Given the description of an element on the screen output the (x, y) to click on. 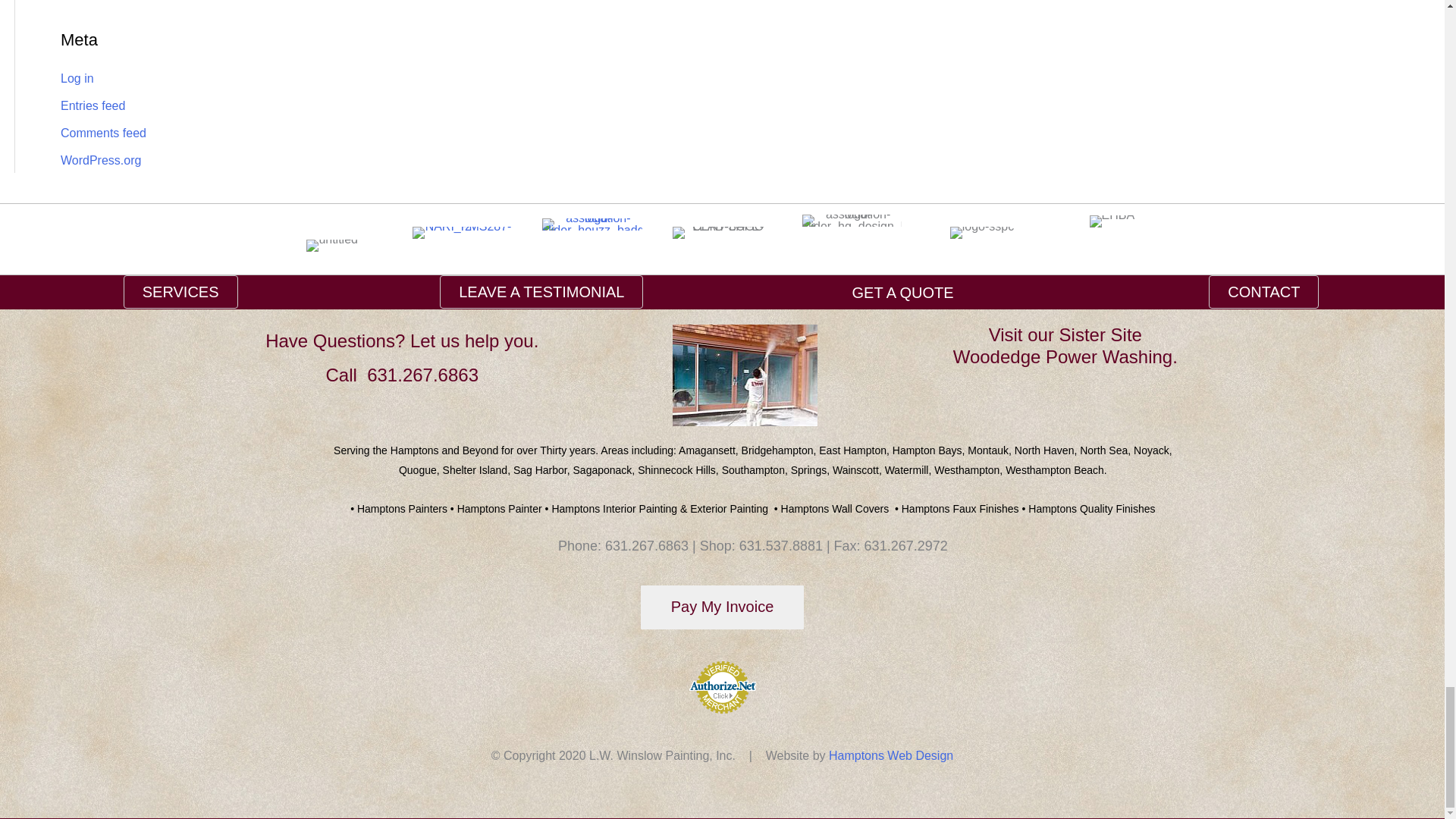
LEAD-SAFE-CERT-LOGO (721, 232)
untitled (331, 245)
logo-sspc (981, 232)
Pay My Invoice (722, 606)
